Given the description of an element on the screen output the (x, y) to click on. 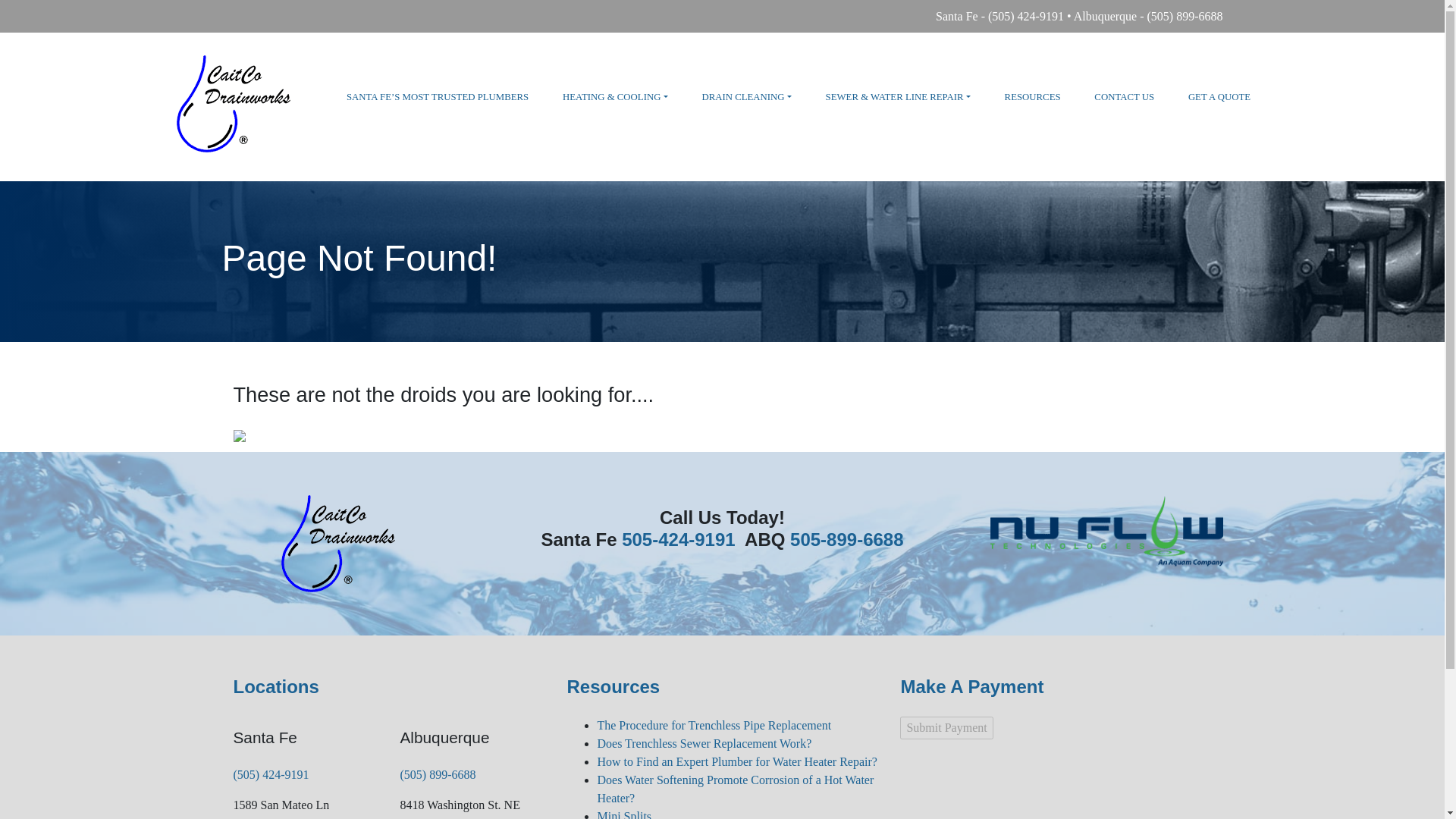
CONTACT US (1123, 97)
505-424-9191 (678, 539)
DRAIN CLEANING (745, 97)
Contact Us (1123, 97)
505-899-6688 (846, 539)
Get a Quote (1219, 97)
How to Find an Expert Plumber for Water Heater Repair? (736, 761)
Does Trenchless Sewer Replacement Work? (703, 743)
Submit Payment (945, 727)
RESOURCES (1032, 97)
Drain Cleaning (745, 97)
Submit Payment (945, 727)
The Procedure for Trenchless Pipe Replacement (713, 725)
Mini Splits (623, 814)
